Given the description of an element on the screen output the (x, y) to click on. 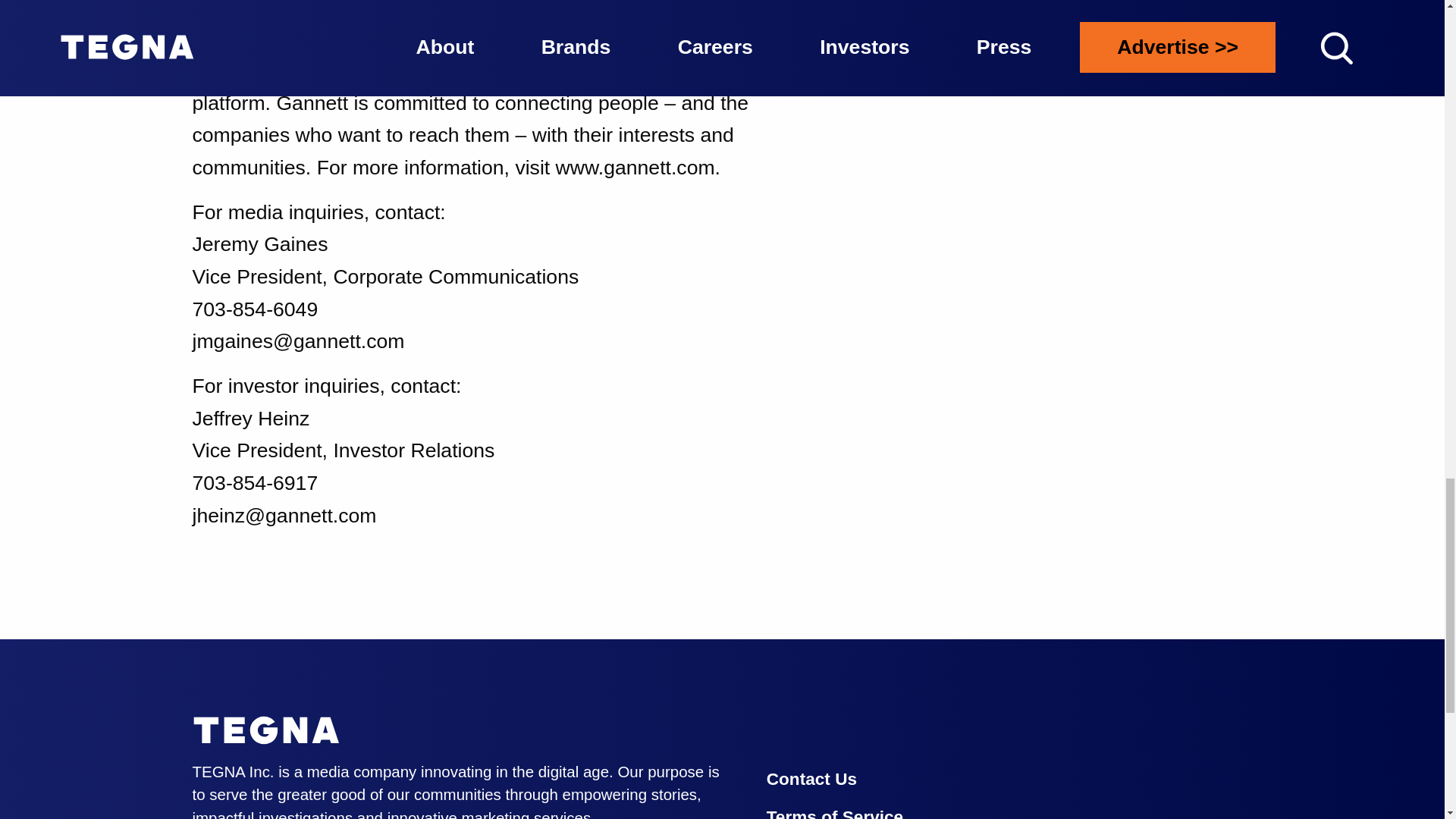
TEGNA (266, 730)
